Given the description of an element on the screen output the (x, y) to click on. 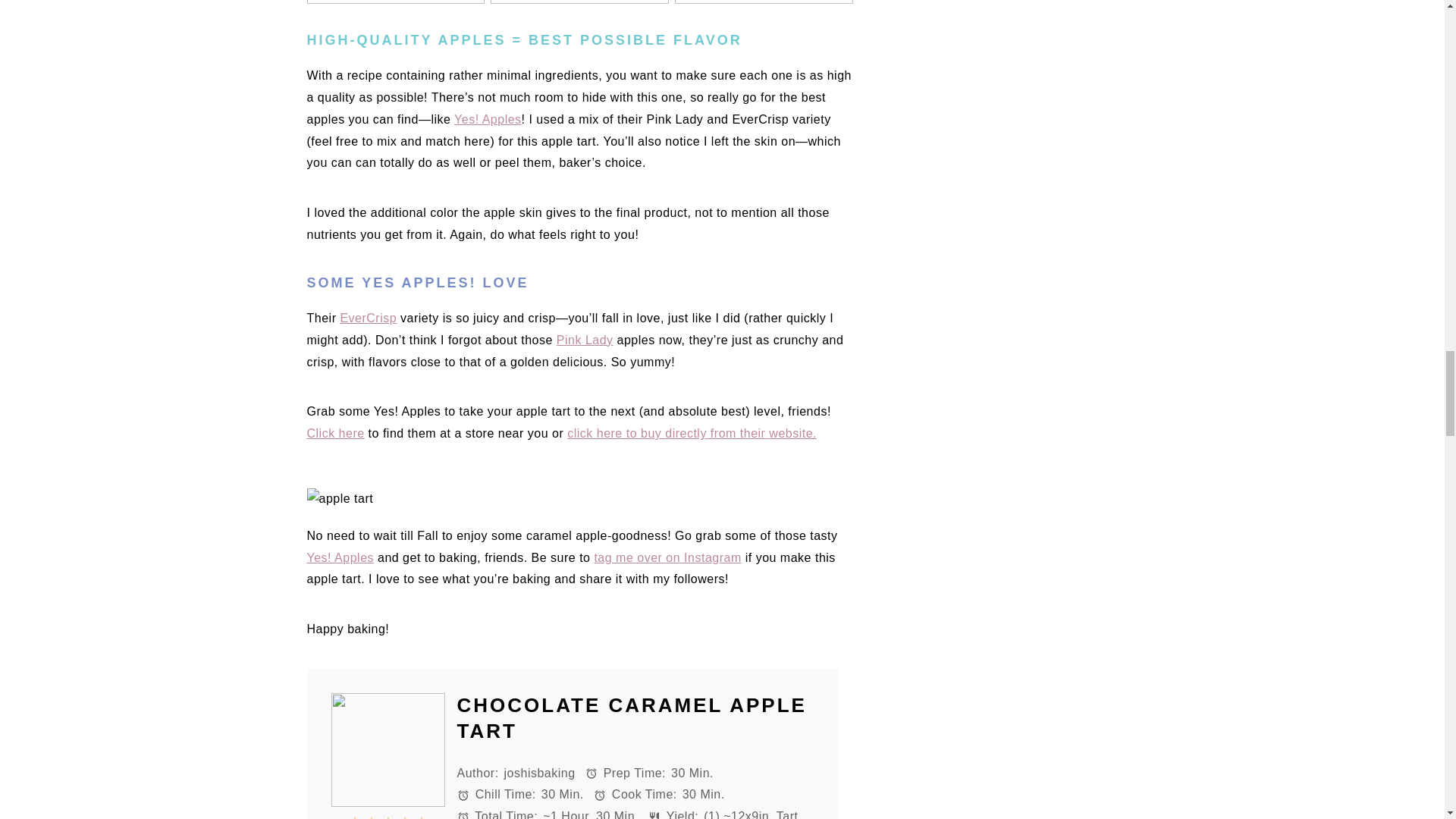
Pink Lady (584, 339)
Yes! Apples (339, 557)
tag me over on Instagram (667, 557)
Click here (334, 432)
EverCrisp (367, 318)
Yes! Apples (487, 119)
click here to buy directly from their website. (691, 432)
